Given the description of an element on the screen output the (x, y) to click on. 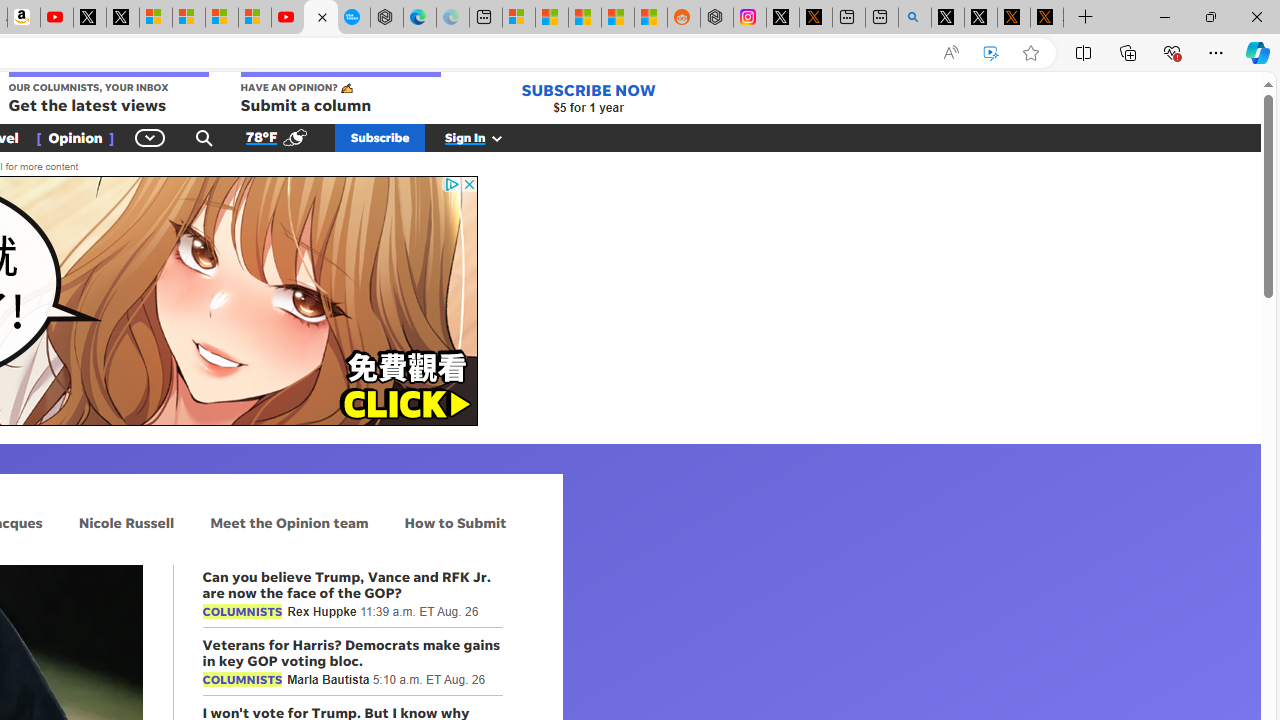
Nordace - Summer Adventures 2024 (717, 17)
Microsoft account | Microsoft Account Privacy Settings (519, 17)
Class: privacy_out (450, 184)
Subscribe (380, 137)
Day 1: Arriving in Yemen (surreal to be here) - YouTube (56, 17)
Profile / X (947, 17)
Class: gnt_n_us_a_svg (493, 137)
Shanghai, China weather forecast | Microsoft Weather (552, 17)
X (123, 17)
